Given the description of an element on the screen output the (x, y) to click on. 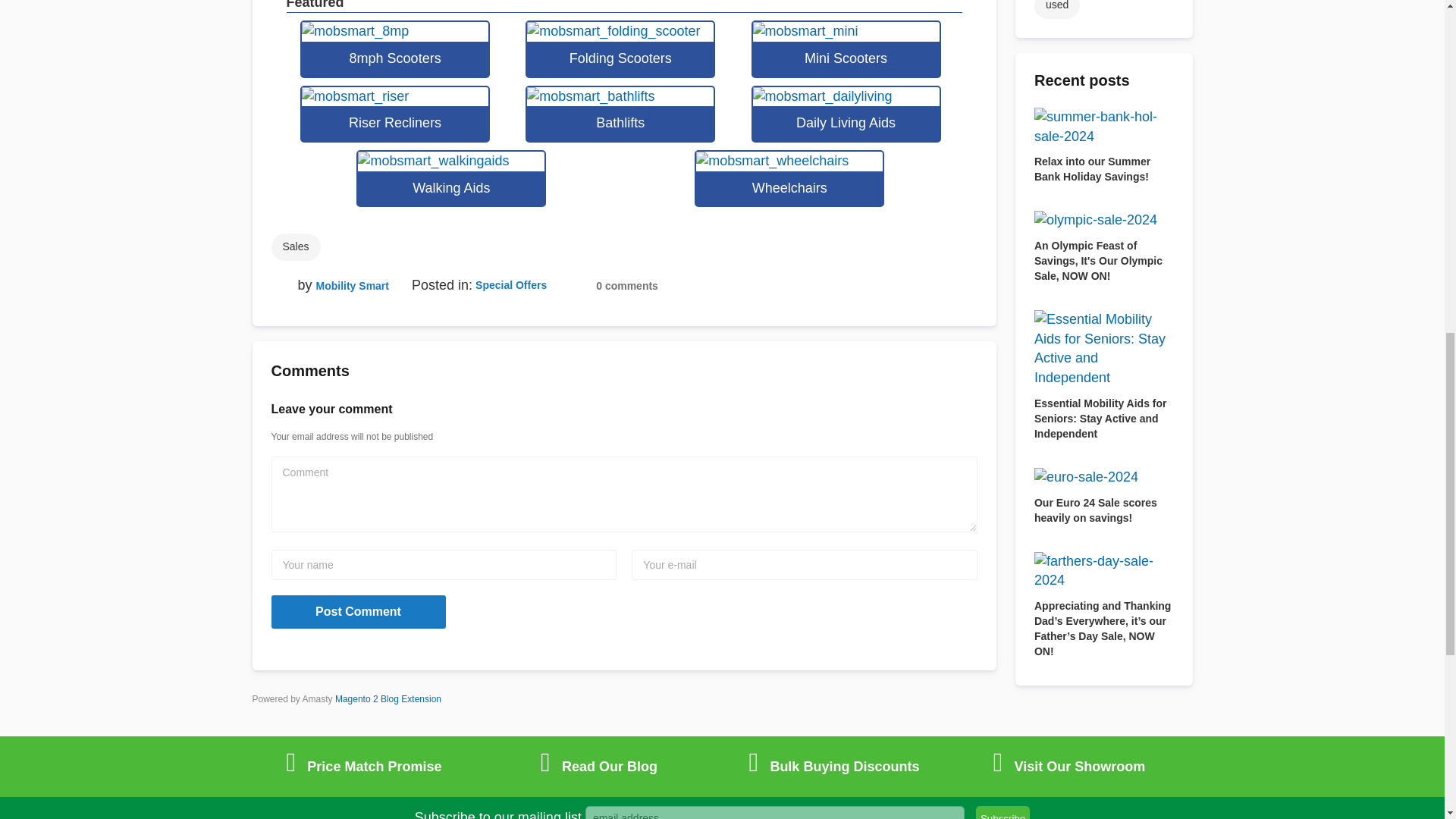
Subscribe (1002, 812)
Mobility Smart (351, 285)
Sales (295, 247)
Special Offers (511, 285)
Post comment (357, 611)
